Given the description of an element on the screen output the (x, y) to click on. 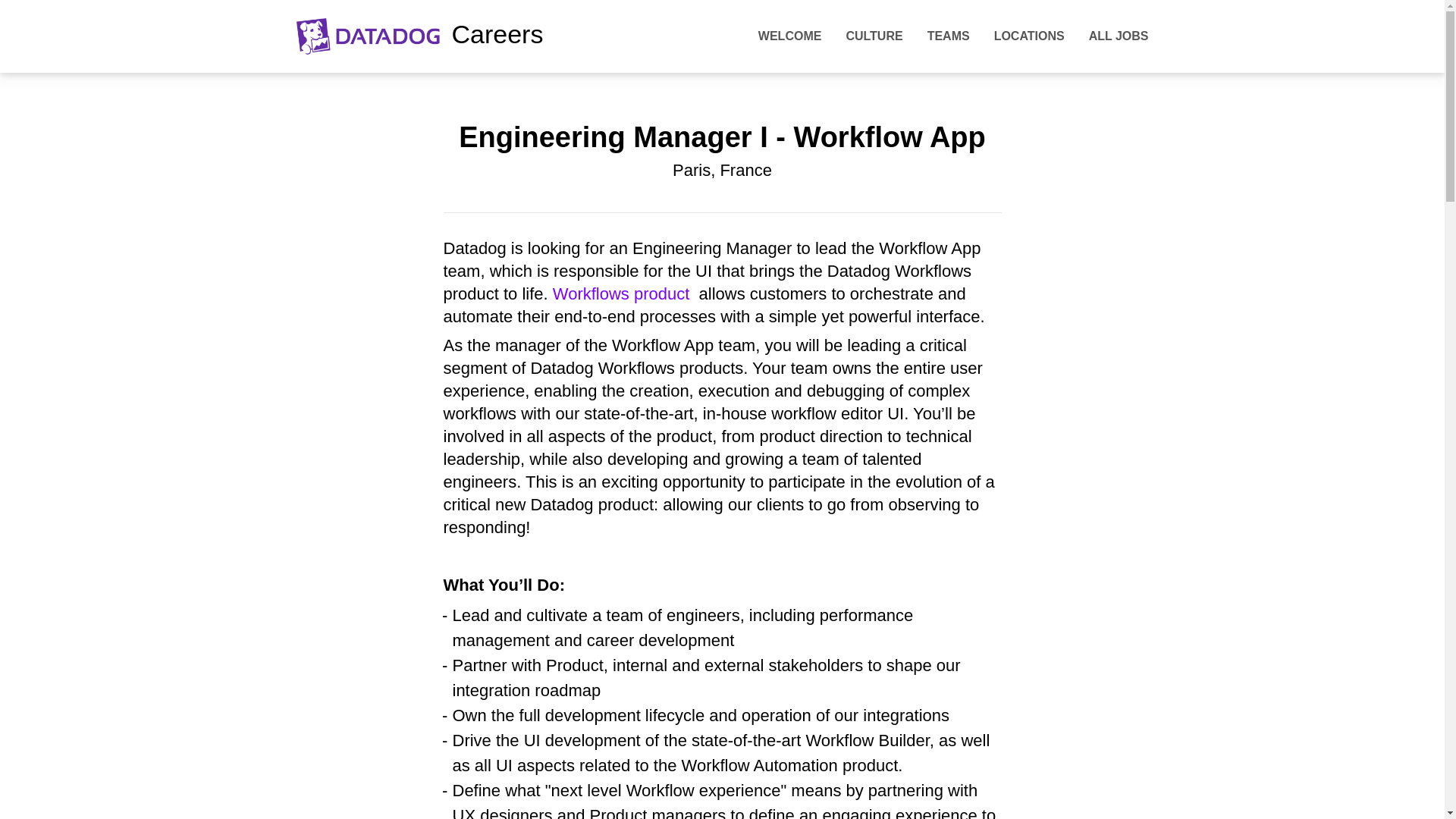
Careers (419, 36)
WELCOME (790, 35)
ALL JOBS (1118, 35)
